Given the description of an element on the screen output the (x, y) to click on. 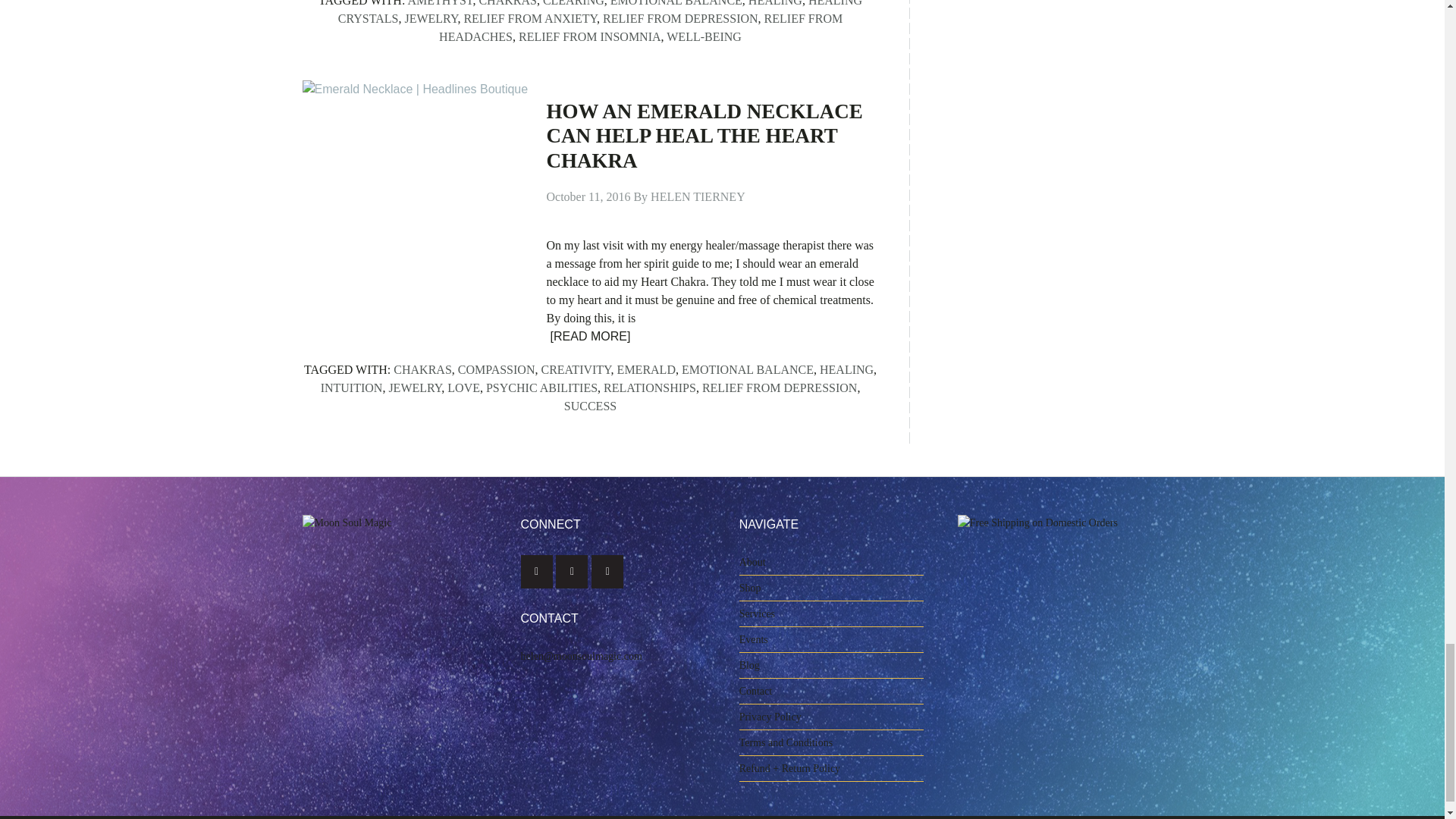
MOON SOUL MAGIC on Pinterest (607, 571)
MOON SOUL MAGIC on Instagram (572, 571)
MOON SOUL MAGIC on Facebook (537, 571)
Moon Soul Magic (357, 571)
Free Shipping Button (1050, 607)
